Given the description of an element on the screen output the (x, y) to click on. 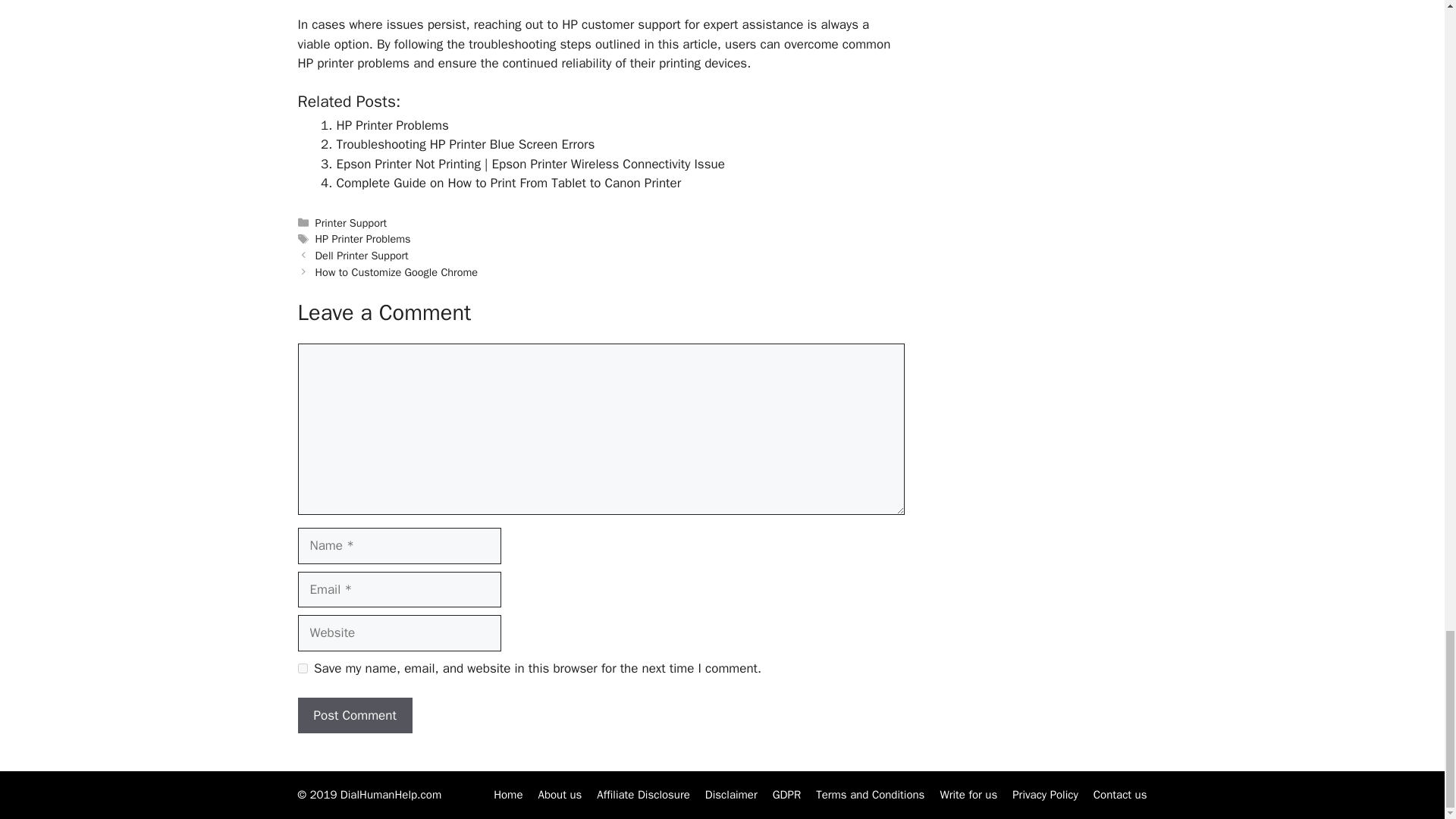
Post Comment (354, 715)
Troubleshooting HP Printer Blue Screen Errors (465, 144)
Complete Guide on How to Print From Tablet to Canon Printer (508, 182)
Complete Guide on How to Print From Tablet to Canon Printer (508, 182)
Troubleshooting HP Printer Blue Screen Errors (465, 144)
HP Printer Problems (392, 125)
yes (302, 668)
HP Printer Problems (392, 125)
HP printer problems (353, 63)
